Given the description of an element on the screen output the (x, y) to click on. 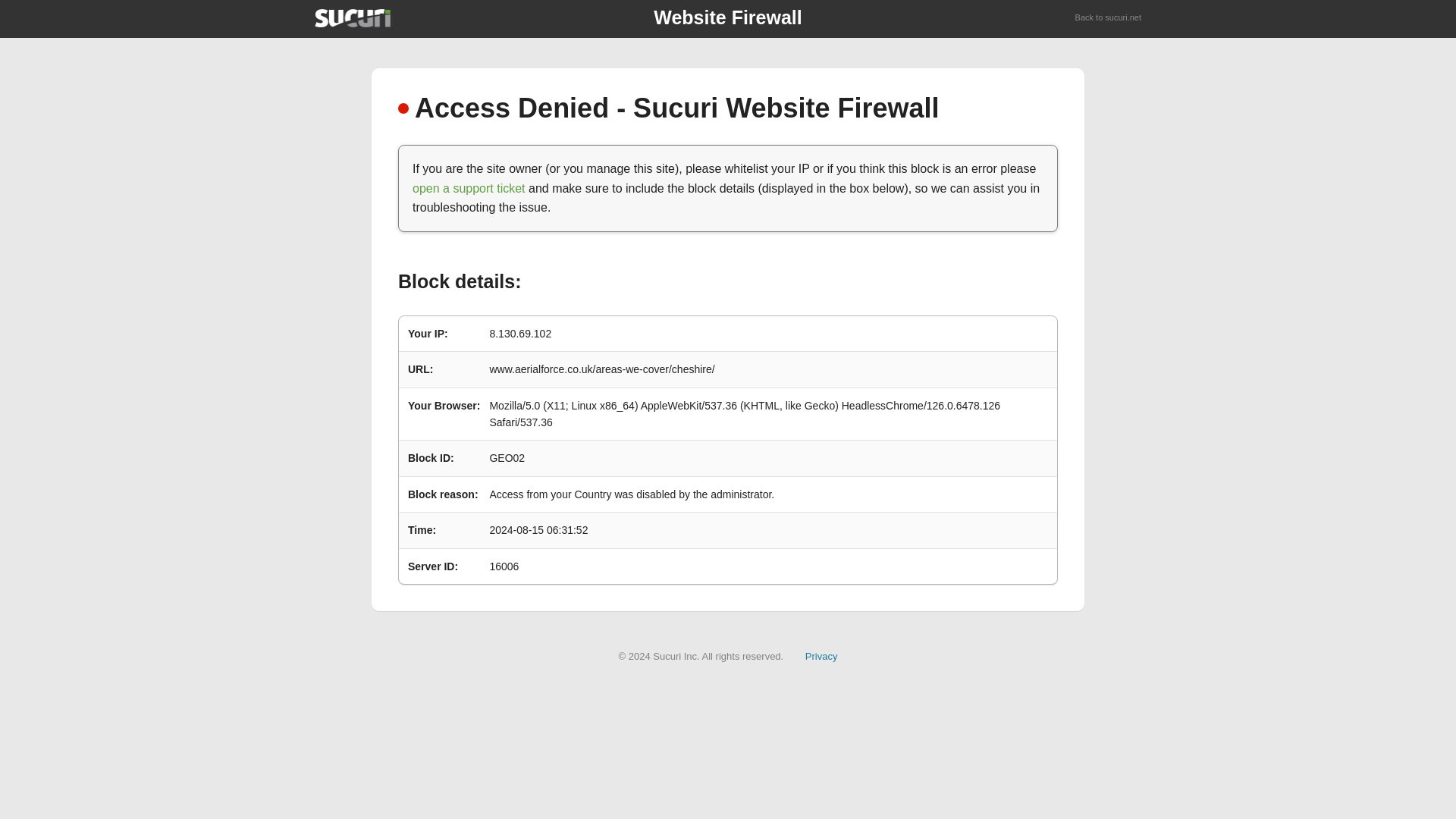
Back to sucuri.net (1108, 18)
open a support ticket (468, 187)
Privacy (821, 655)
